Given the description of an element on the screen output the (x, y) to click on. 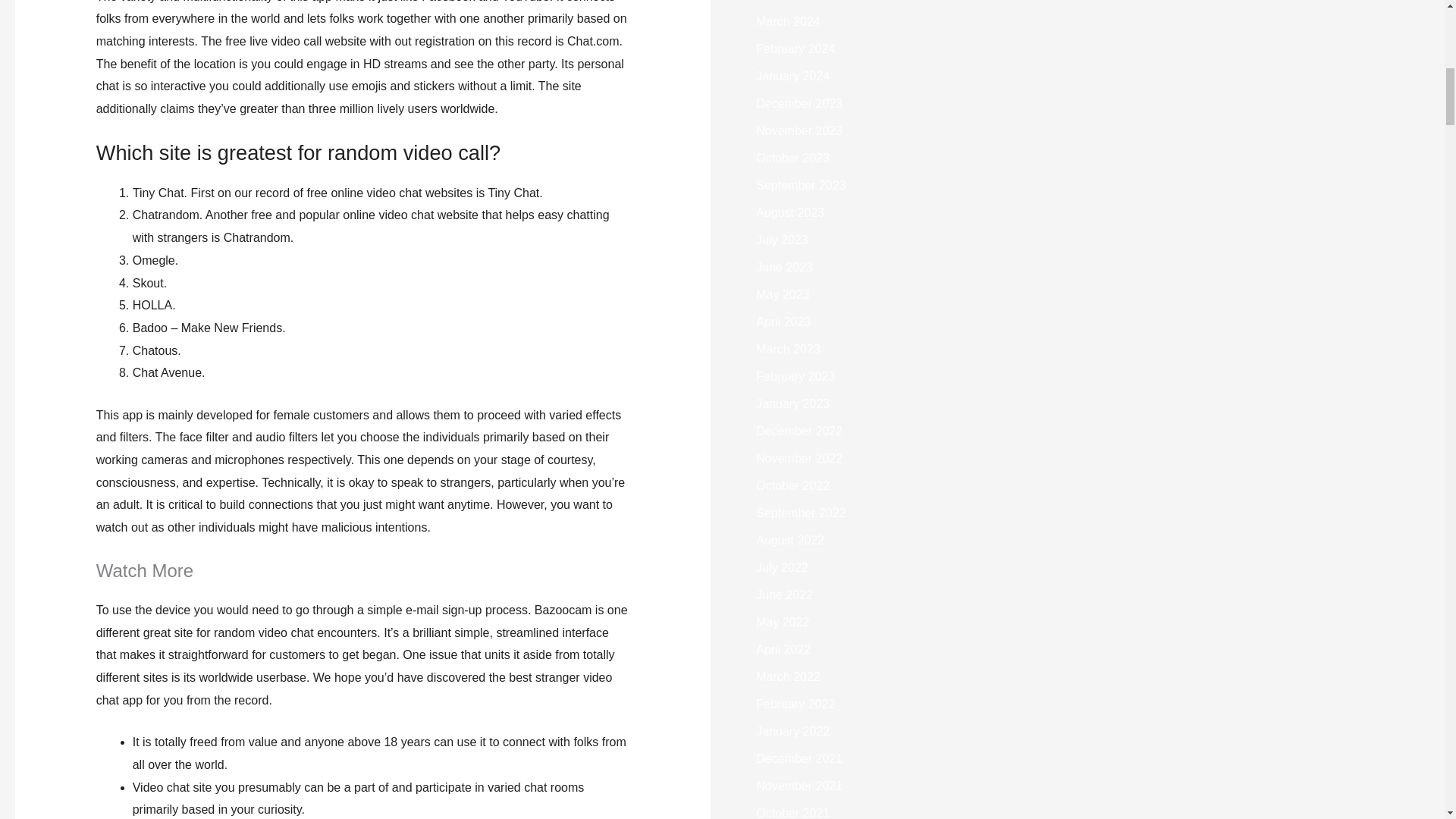
July 2023 (781, 239)
November 2022 (799, 458)
January 2024 (792, 75)
March 2023 (788, 349)
May 2023 (782, 294)
November 2023 (799, 130)
June 2023 (783, 267)
September 2023 (800, 185)
August 2023 (789, 212)
December 2023 (799, 103)
